Given the description of an element on the screen output the (x, y) to click on. 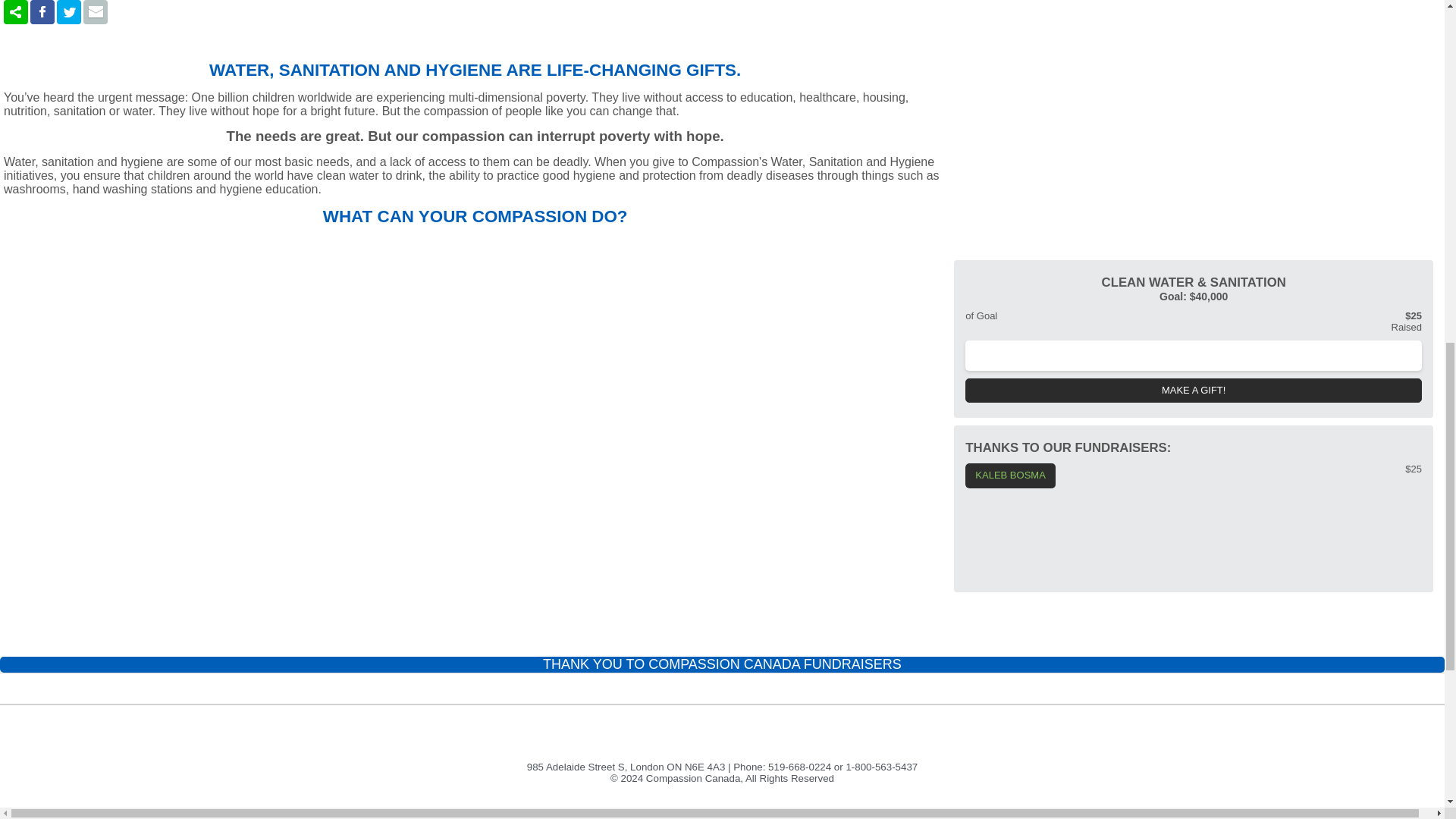
MAKE A GIFT! (1193, 390)
KALEB BOSMA (1009, 475)
